Given the description of an element on the screen output the (x, y) to click on. 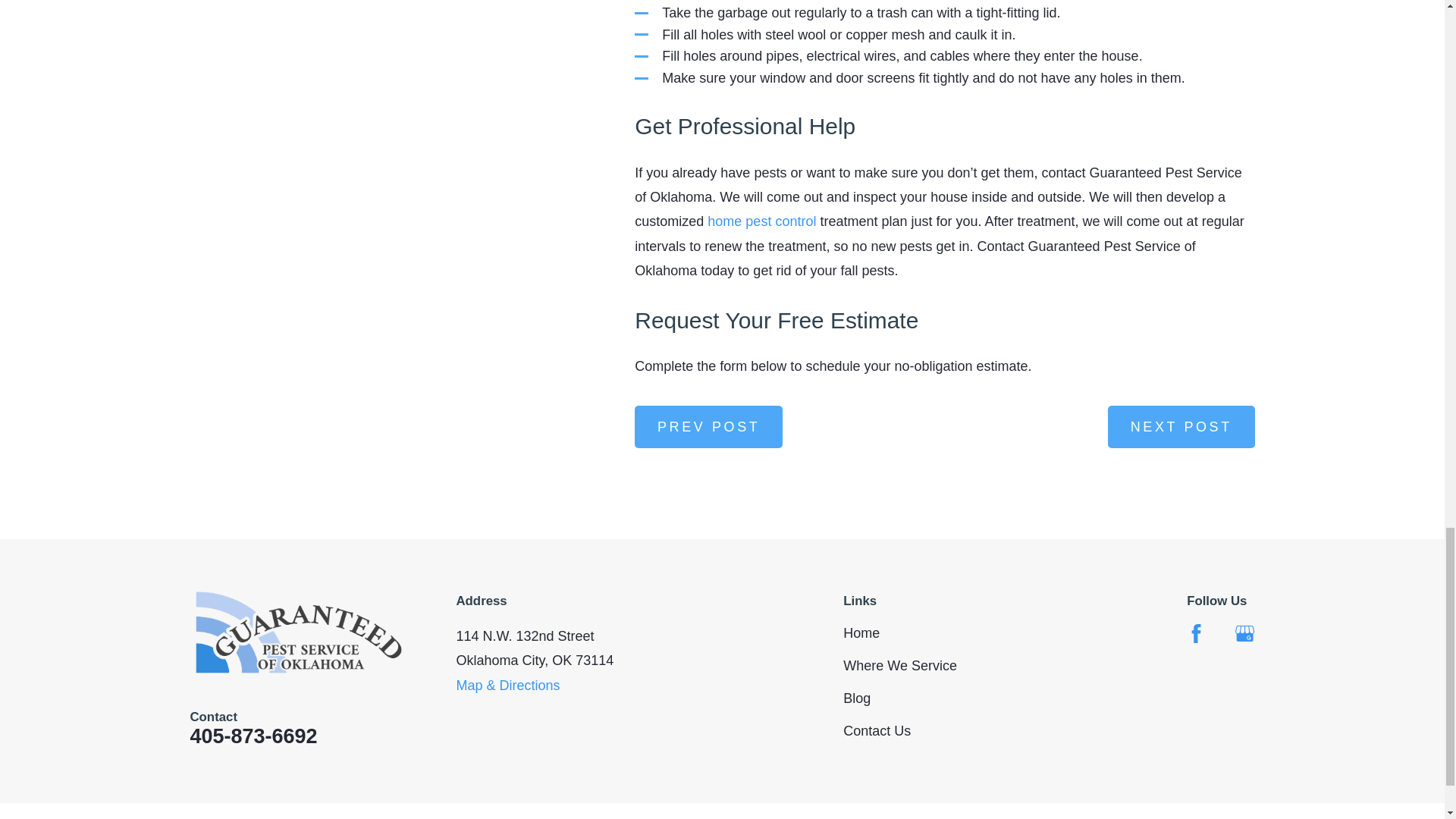
Facebook (1195, 633)
Google Business Profile (1243, 633)
Home (298, 632)
